Given the description of an element on the screen output the (x, y) to click on. 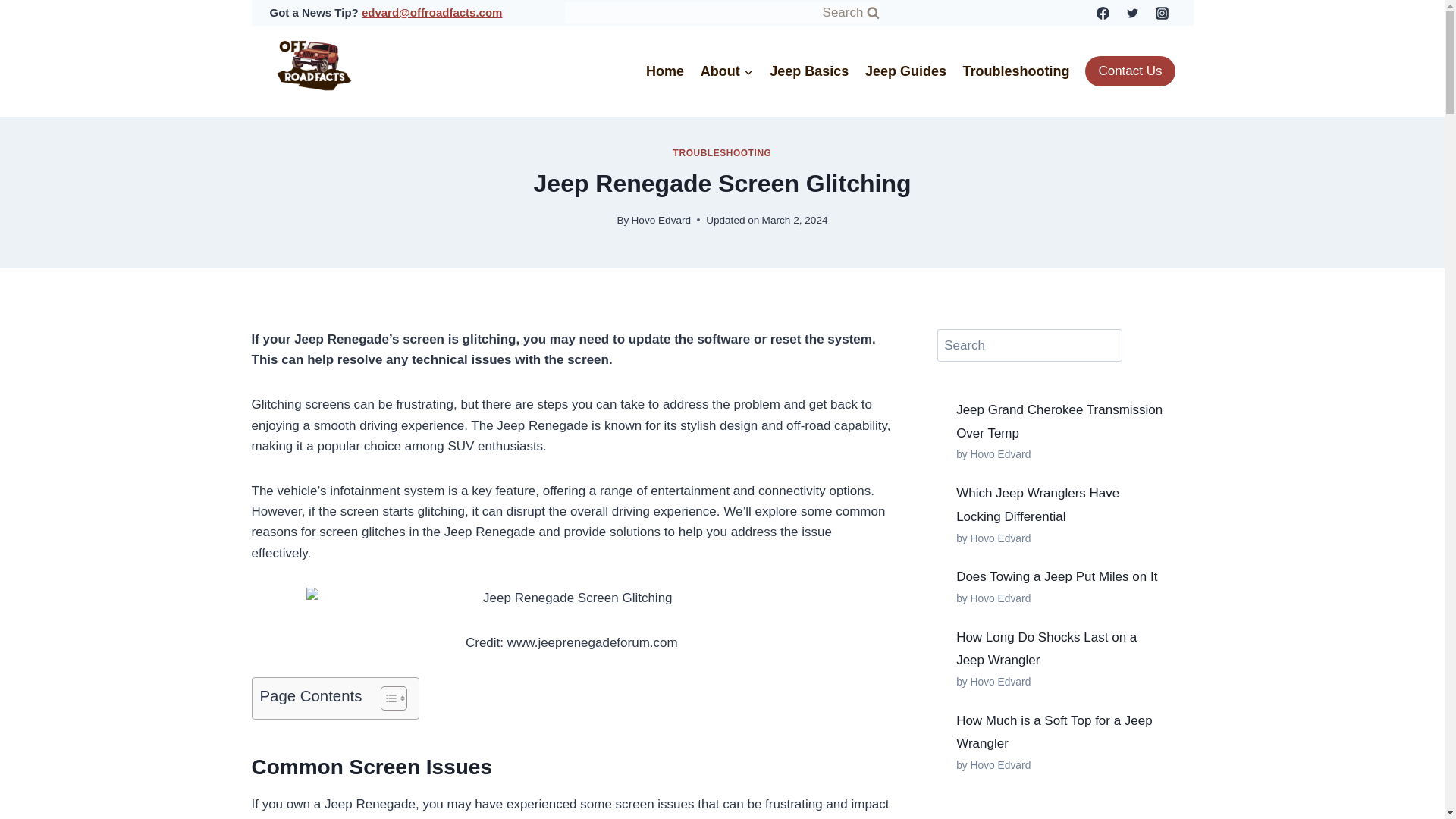
About (727, 71)
Search (722, 12)
Home (665, 71)
Hovo Edvard (661, 220)
Troubleshooting (1016, 71)
Jeep Guides (906, 71)
Jeep Basics (809, 71)
Contact Us (1129, 71)
TROUBLESHOOTING (721, 153)
